Given the description of an element on the screen output the (x, y) to click on. 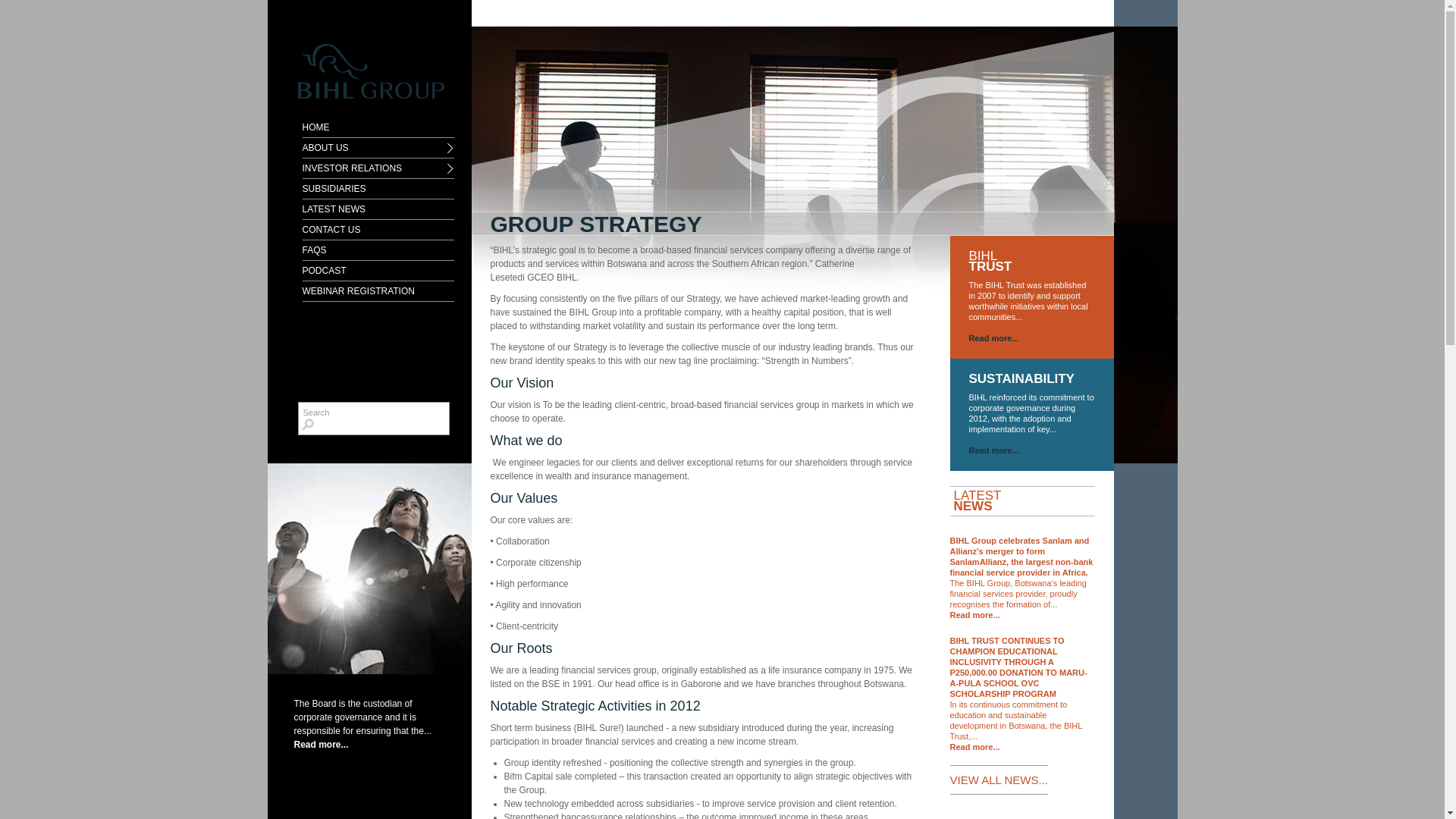
INVESTOR RELATIONS Element type: text (377, 168)
Read more... Element type: text (974, 614)
LATEST NEWS Element type: text (377, 209)
Skip to main content Element type: text (54, 0)
VIEW ALL NEWS... Element type: text (998, 779)
SUBSIDIARIES Element type: text (377, 188)
Read more... Element type: text (994, 450)
WEBINAR REGISTRATION Element type: text (377, 291)
ABOUT US Element type: text (377, 148)
Enter the terms you wish to search for. Element type: hover (368, 411)
FAQS Element type: text (377, 250)
Read more... Element type: text (974, 746)
Home Element type: hover (362, 53)
Read more... Element type: text (994, 337)
CONTACT US Element type: text (377, 229)
PODCAST Element type: text (377, 270)
HOME Element type: text (377, 127)
Read more... Element type: text (321, 744)
